Given the description of an element on the screen output the (x, y) to click on. 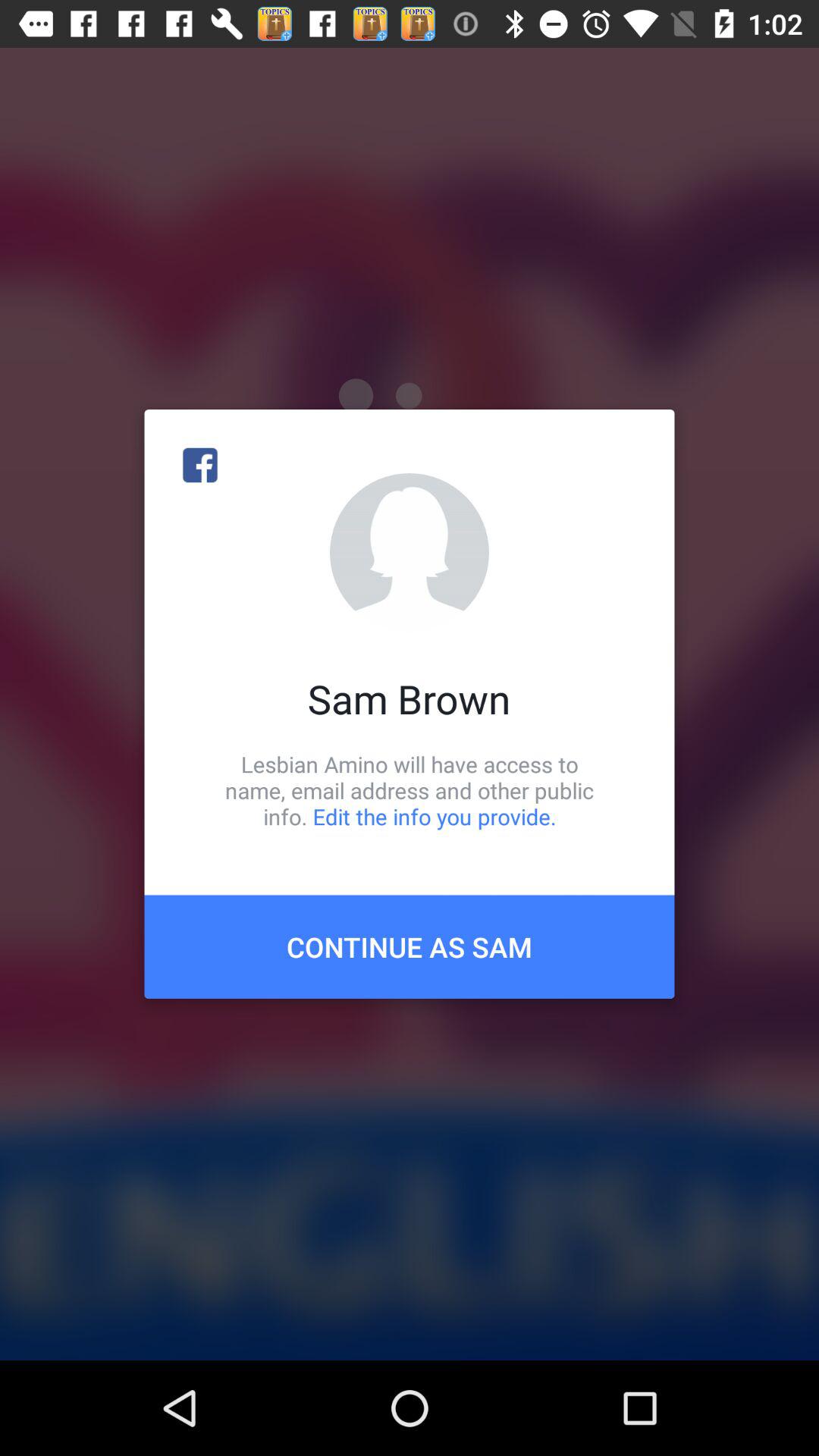
select the item below the sam brown (409, 790)
